Given the description of an element on the screen output the (x, y) to click on. 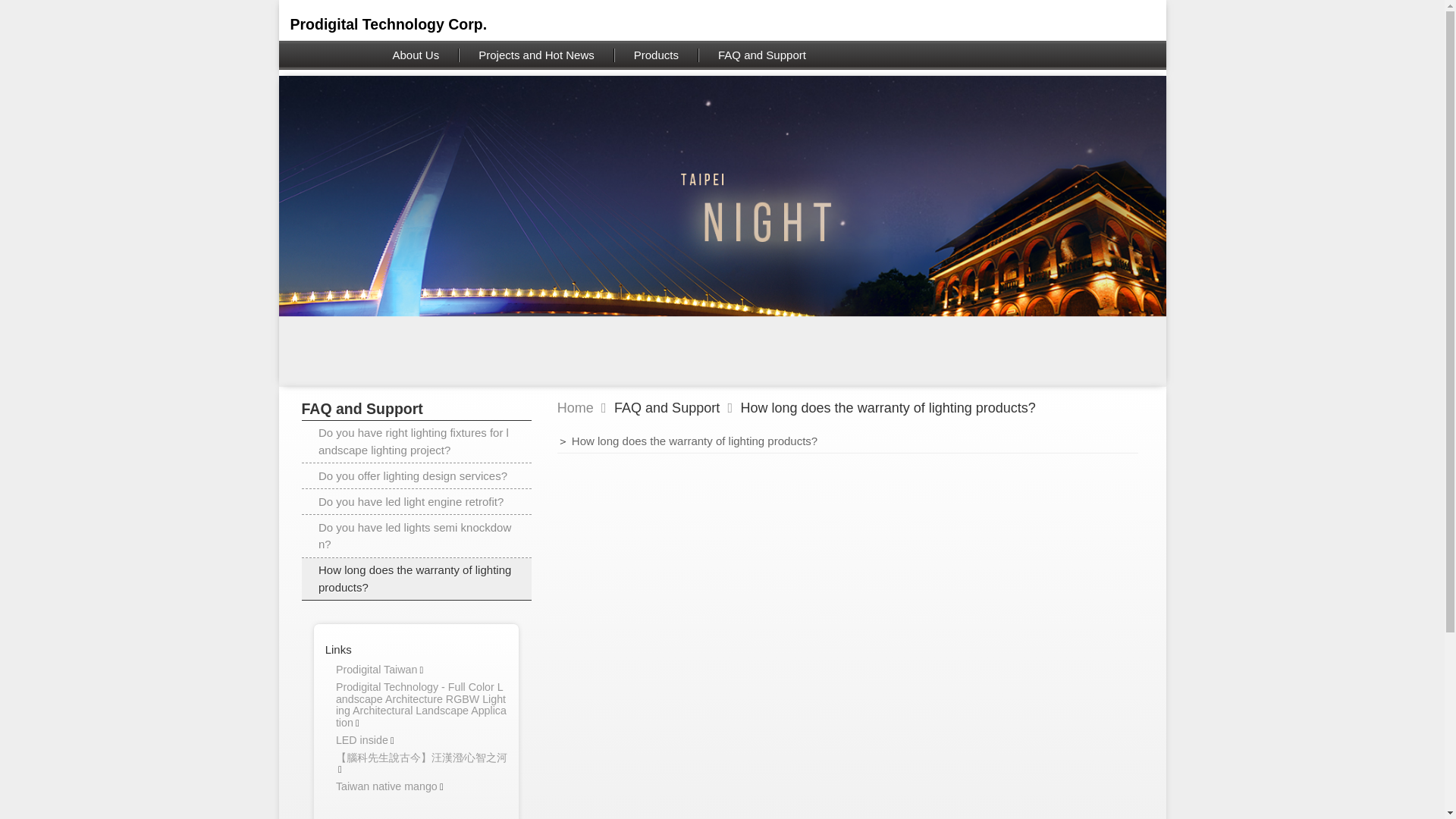
About Us (415, 55)
Prodigital Technology Corp. (387, 23)
Prodigital Technology Corp. (387, 23)
Projects and Hot News (536, 55)
Products (656, 55)
FAQ and Support (761, 55)
